Given the description of an element on the screen output the (x, y) to click on. 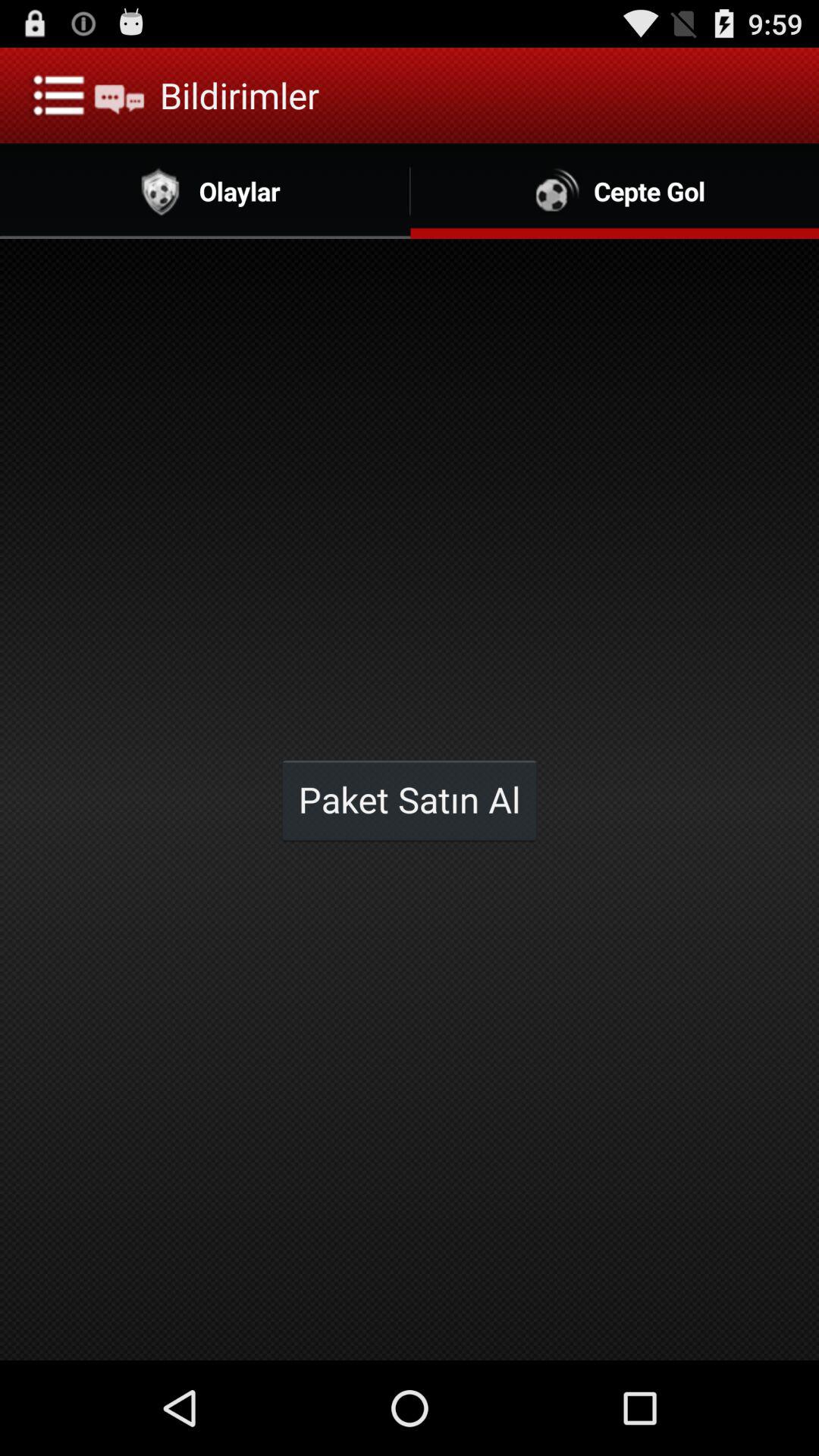
turn off the icon below the olaylar item (409, 799)
